Given the description of an element on the screen output the (x, y) to click on. 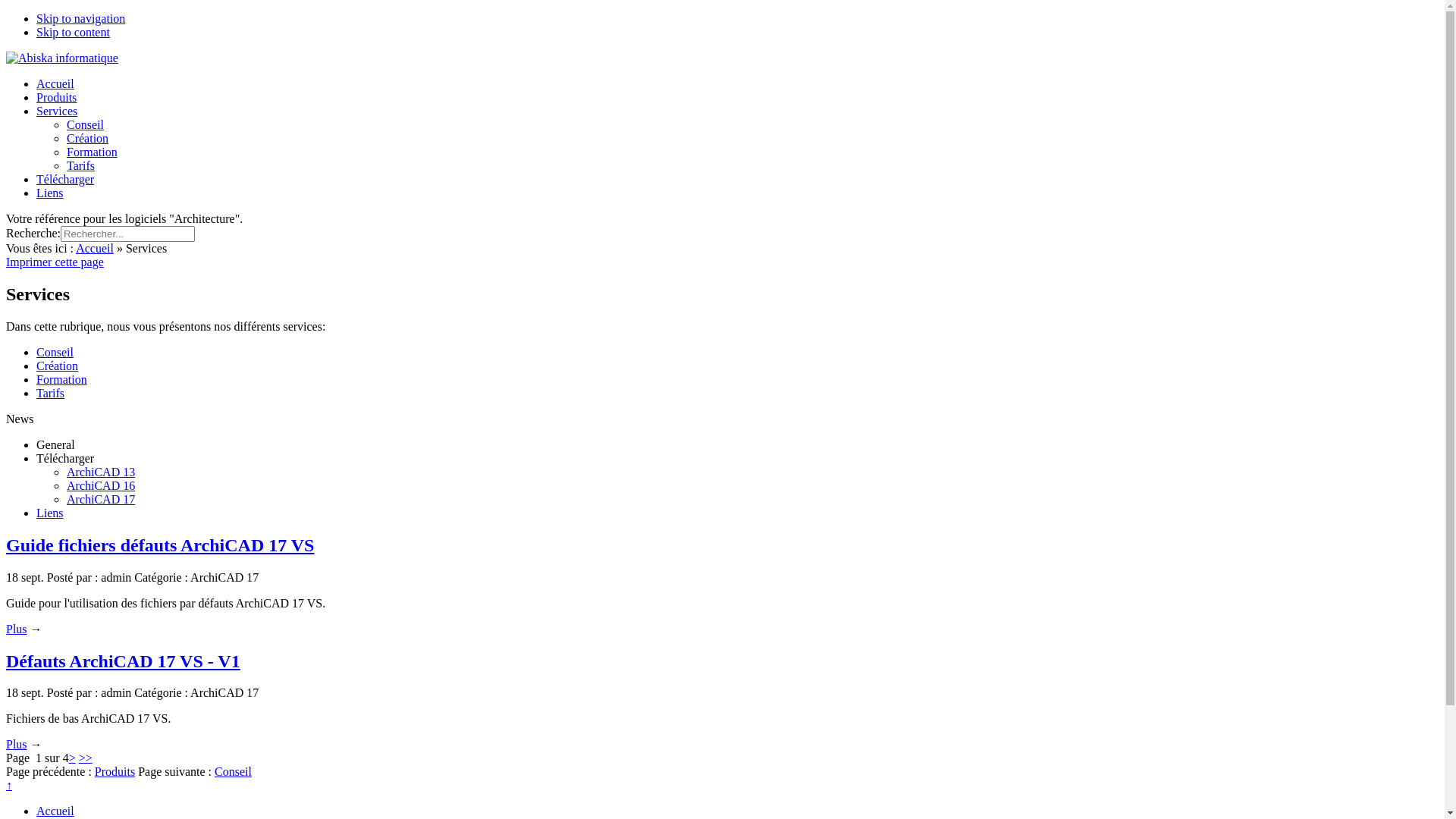
Conseil Element type: text (84, 124)
Liens Element type: text (49, 512)
Formation Element type: text (61, 379)
ArchiCAD 13 Element type: text (100, 471)
Accueil Element type: text (55, 810)
Skip to navigation Element type: text (80, 18)
Services Element type: text (56, 110)
Conseil Element type: text (54, 351)
Plus Element type: text (16, 743)
Skip to content Element type: text (72, 31)
Produits Element type: text (114, 771)
Accueil Element type: text (55, 83)
Abiska informatique Element type: hover (62, 57)
> Element type: text (72, 757)
Plus Element type: text (16, 628)
Conseil Element type: text (232, 771)
ArchiCAD 17 Element type: text (100, 498)
Accueil Element type: text (94, 247)
Tarifs Element type: text (80, 165)
>> Element type: text (85, 757)
Formation Element type: text (91, 151)
ArchiCAD 16 Element type: text (100, 485)
Tarifs Element type: text (50, 392)
Produits Element type: text (56, 97)
Imprimer cette page Element type: text (54, 261)
Liens Element type: text (49, 192)
